Given the description of an element on the screen output the (x, y) to click on. 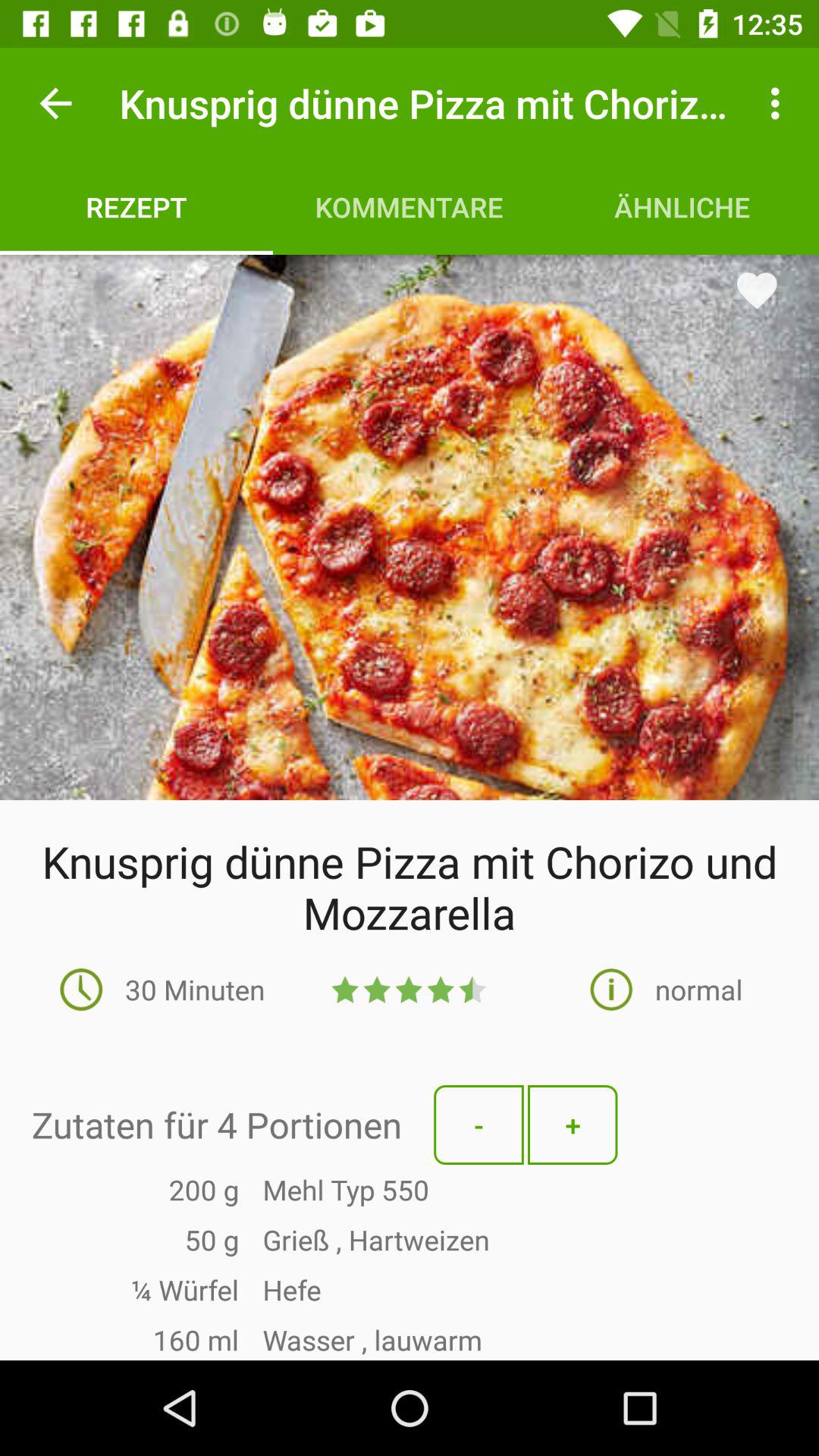
swipe to + item (572, 1124)
